Given the description of an element on the screen output the (x, y) to click on. 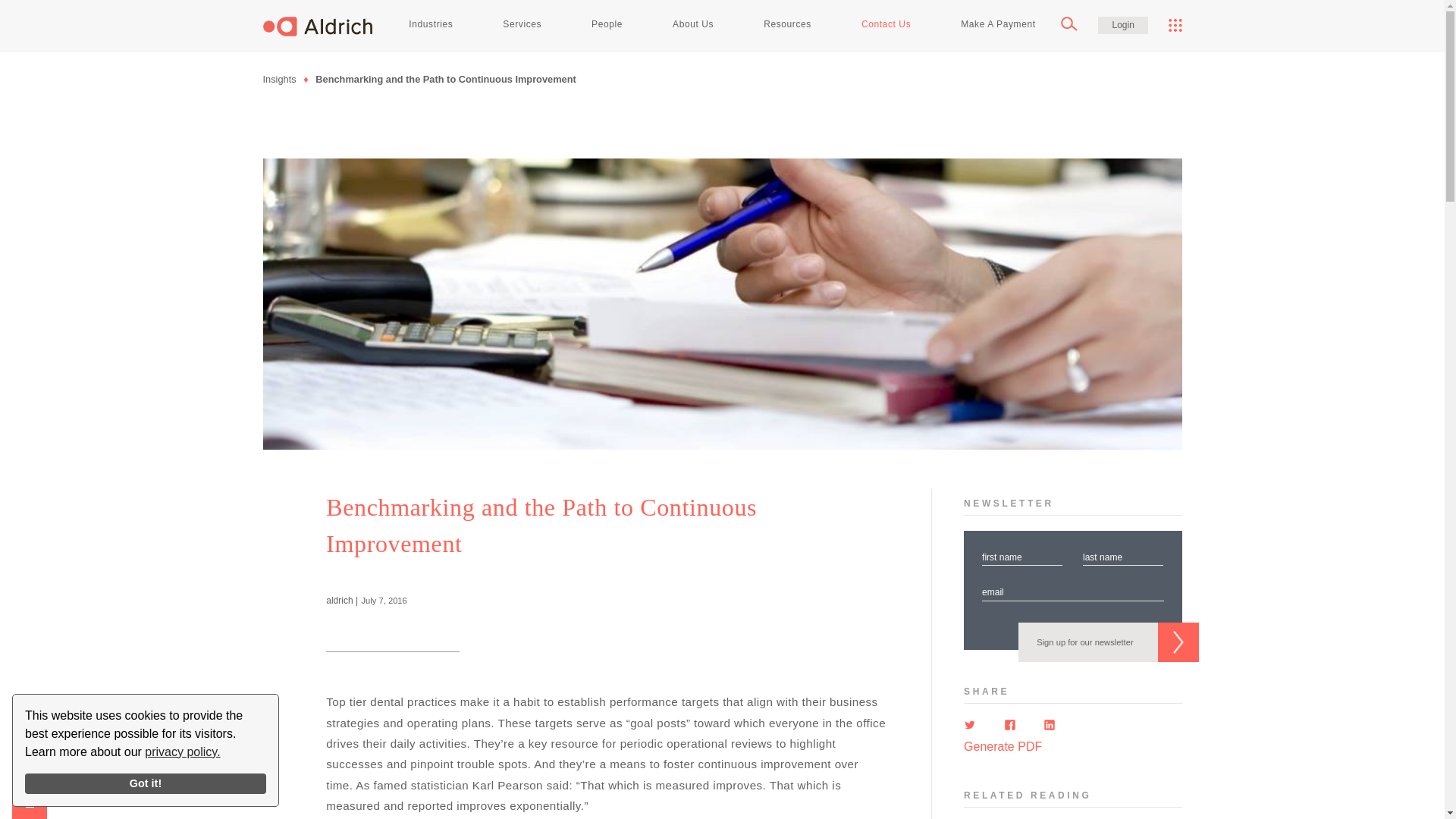
Benchmarking and the Path to Continuous Improvement (445, 79)
Got it! (145, 783)
Sign up for our newsletter (1107, 641)
about (693, 23)
industries (430, 23)
services (522, 23)
privacy policy. (181, 751)
resources (788, 23)
